Given the description of an element on the screen output the (x, y) to click on. 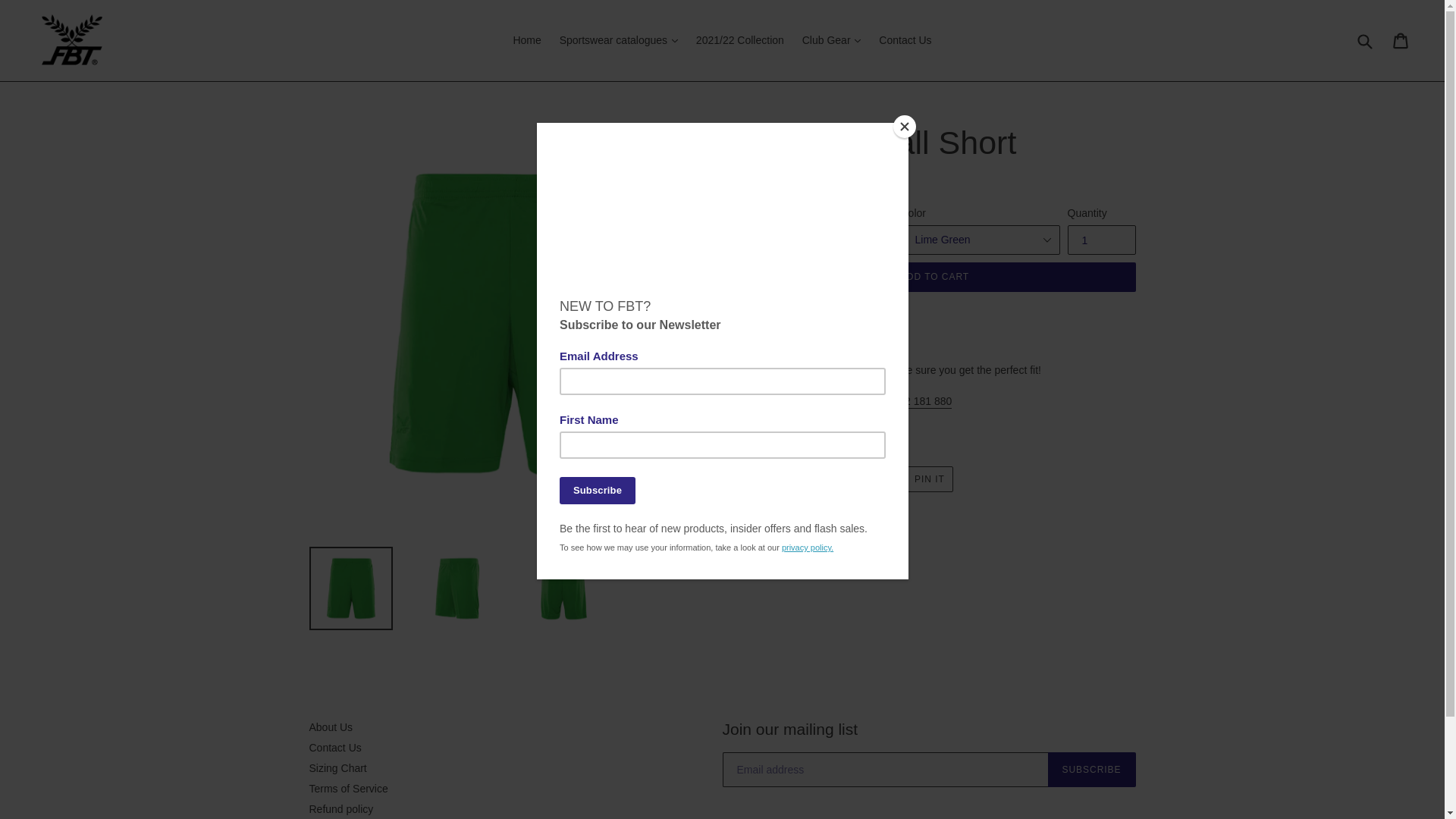
Submit Element type: text (1363, 40)
Cart
Cart Element type: text (1401, 40)
SUBSCRIBE Element type: text (1091, 769)
Home Element type: text (526, 40)
About Us Element type: text (331, 727)
TWEET
TWEET ON TWITTER Element type: text (845, 479)
Refund policy Element type: text (341, 809)
Contact Us Element type: text (335, 747)
2021/22 Collection Element type: text (739, 40)
Terms of Service Element type: text (348, 788)
SHARE
SHARE ON FACEBOOK Element type: text (768, 479)
PIN IT
PIN ON PINTEREST Element type: text (920, 479)
here Element type: text (861, 371)
0402 181 880 Element type: text (919, 401)
ADD TO CART Element type: text (934, 277)
Contact Us Element type: text (904, 40)
Sizing Chart Element type: text (338, 768)
